Given the description of an element on the screen output the (x, y) to click on. 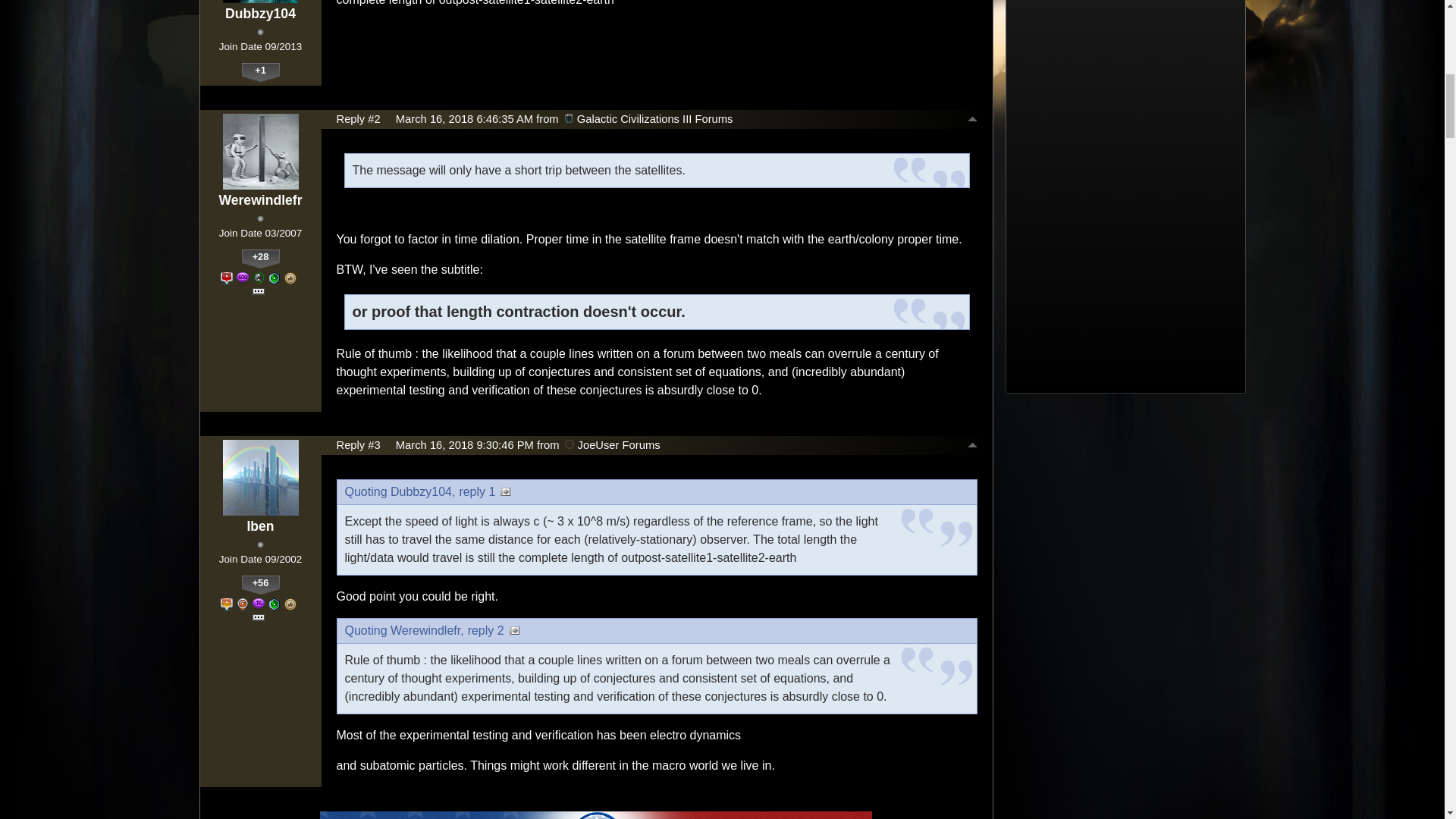
Click user name to view more options. (260, 13)
View Dubbzy104's Karma (260, 72)
Rank: 1 (260, 32)
